Given the description of an element on the screen output the (x, y) to click on. 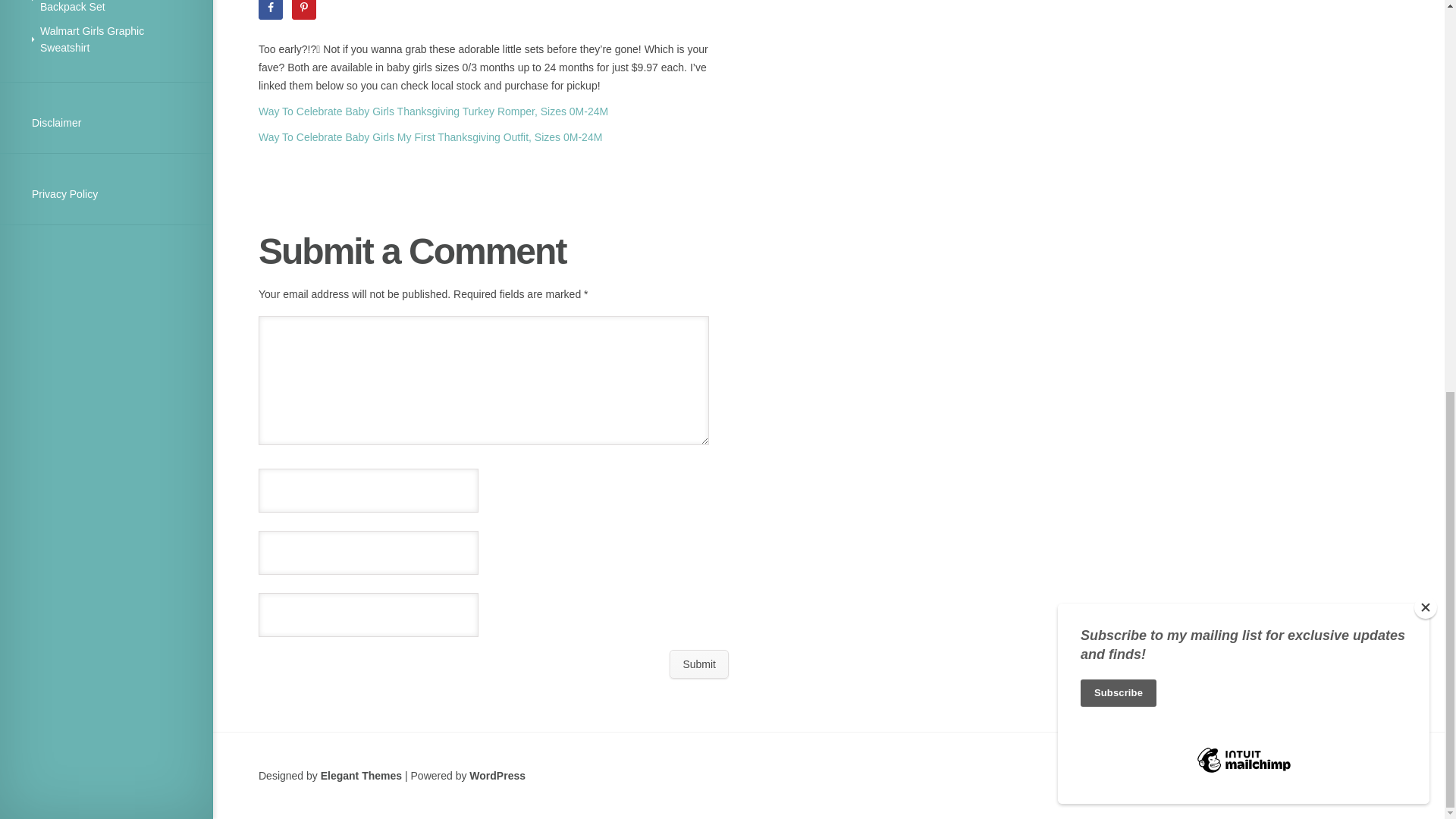
Elegant Themes (360, 775)
Privacy Policy (64, 193)
WordPress (496, 775)
Submit (699, 664)
Walmart Girls Graphic Sweatshirt (92, 39)
Premium WordPress Themes (360, 775)
Submit (699, 664)
Disclaimer (56, 122)
Share on Facebook (270, 9)
Save to Pinterest (303, 9)
